Given the description of an element on the screen output the (x, y) to click on. 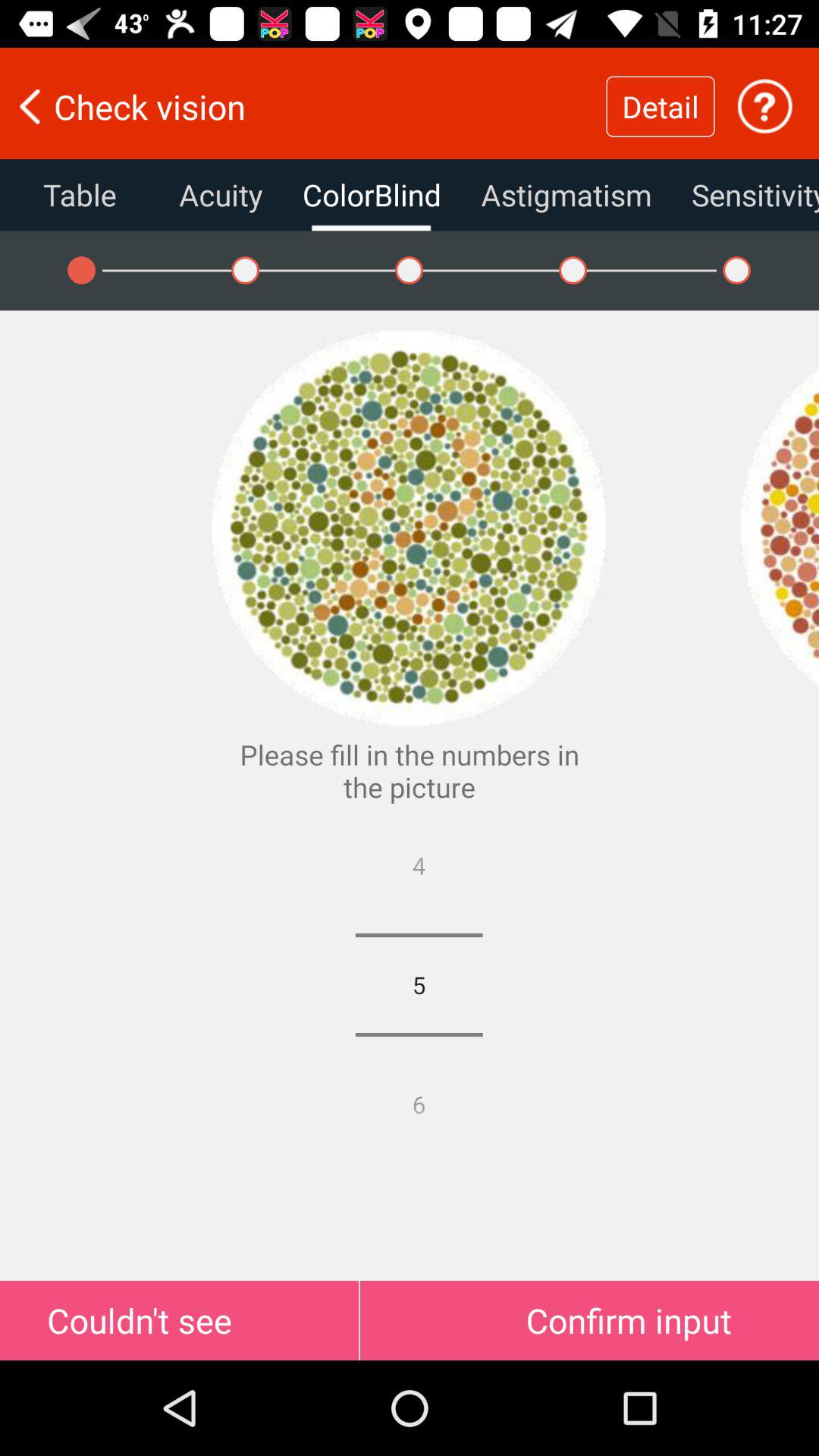
find out more (764, 106)
